Given the description of an element on the screen output the (x, y) to click on. 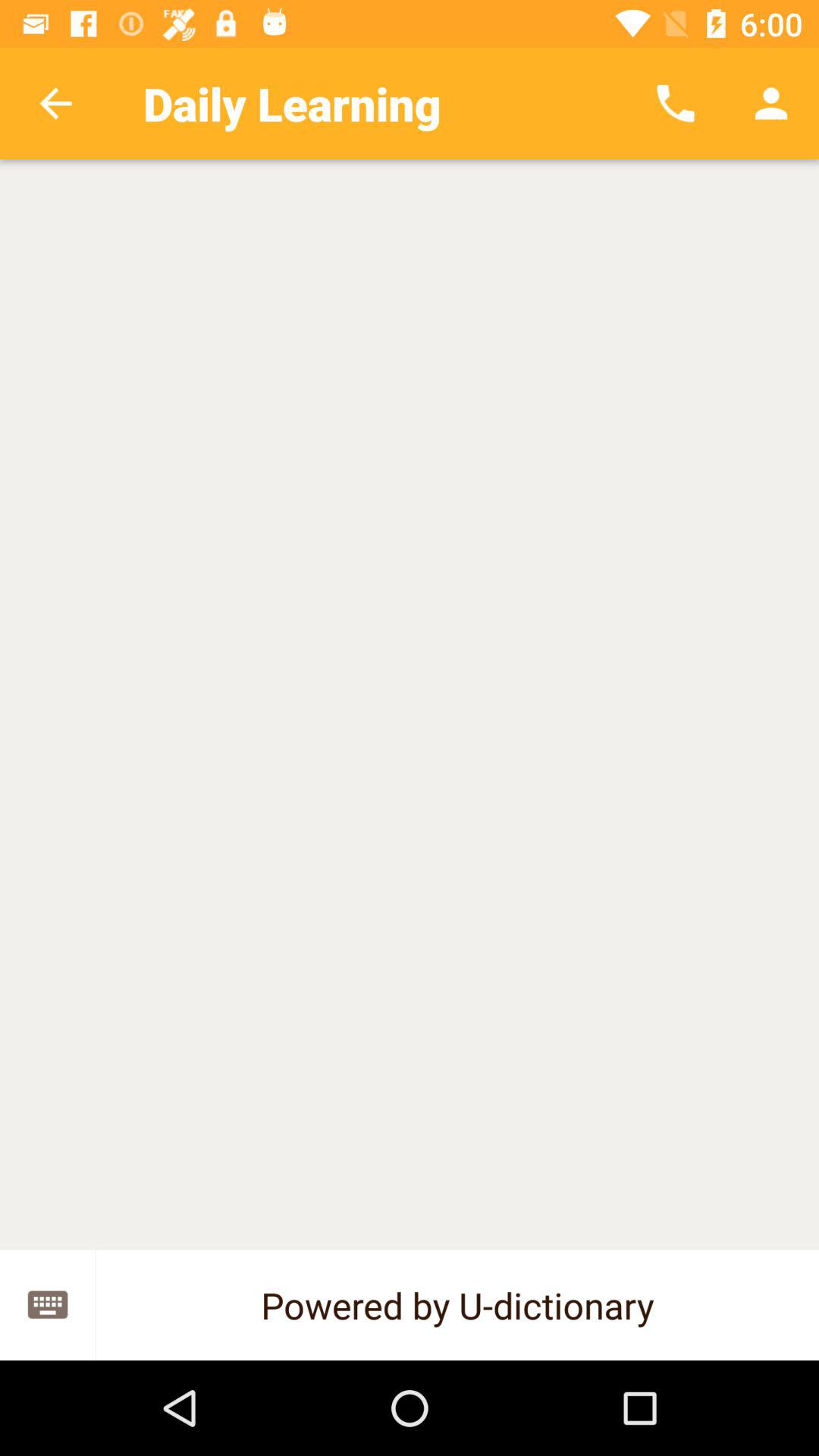
share icon (47, 1304)
